Given the description of an element on the screen output the (x, y) to click on. 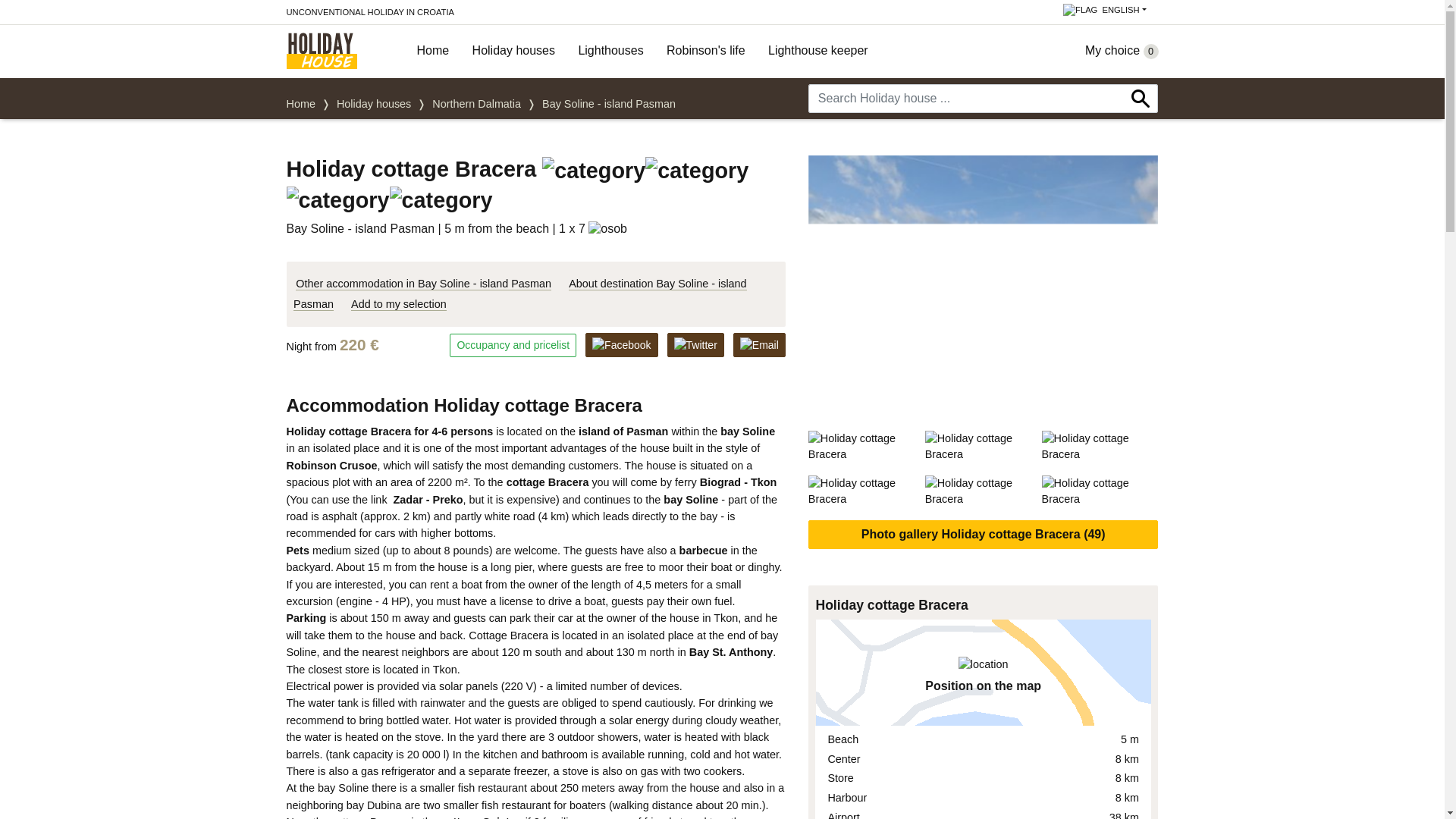
Lighthouses (616, 51)
Lighthouse keeper (823, 51)
Occupancy and pricelist (512, 345)
Add to my selection (398, 304)
About destination Bay Soline - island Pasman (520, 294)
Robinson's life (711, 51)
Share on Facebook (621, 344)
Holiday houses (373, 103)
Northern Dalmatia (476, 103)
Holiday houses (518, 51)
